Given the description of an element on the screen output the (x, y) to click on. 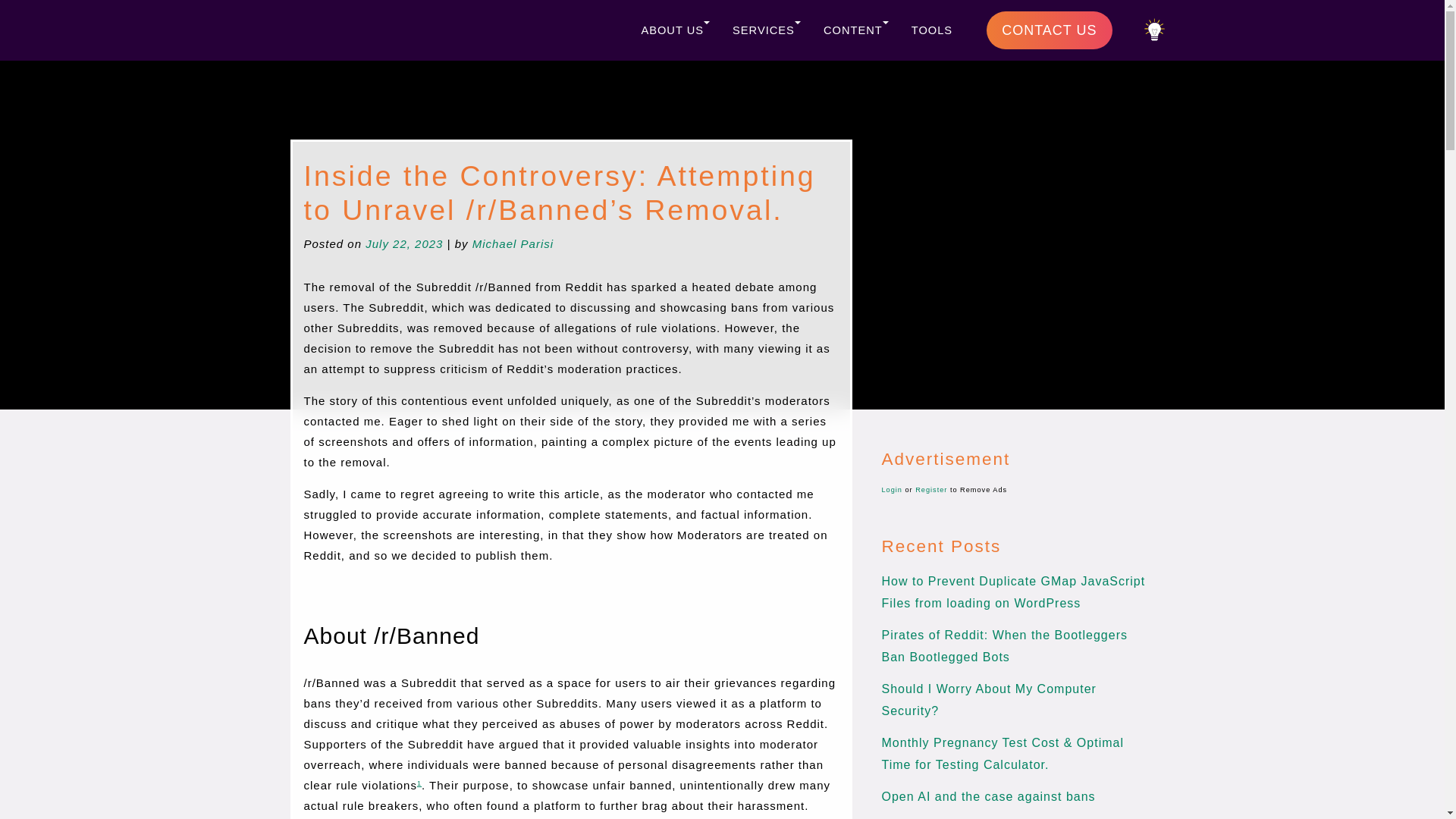
1 (419, 783)
Michael Parisi (512, 243)
Go To Home Page (610, 26)
SERVICES (766, 30)
CONTACT US (1049, 30)
July 22, 2023 (403, 243)
Services (766, 30)
About Us (675, 30)
TOOLS (931, 30)
ABOUT US (675, 30)
Home Page (610, 27)
CONTENT (855, 30)
